Given the description of an element on the screen output the (x, y) to click on. 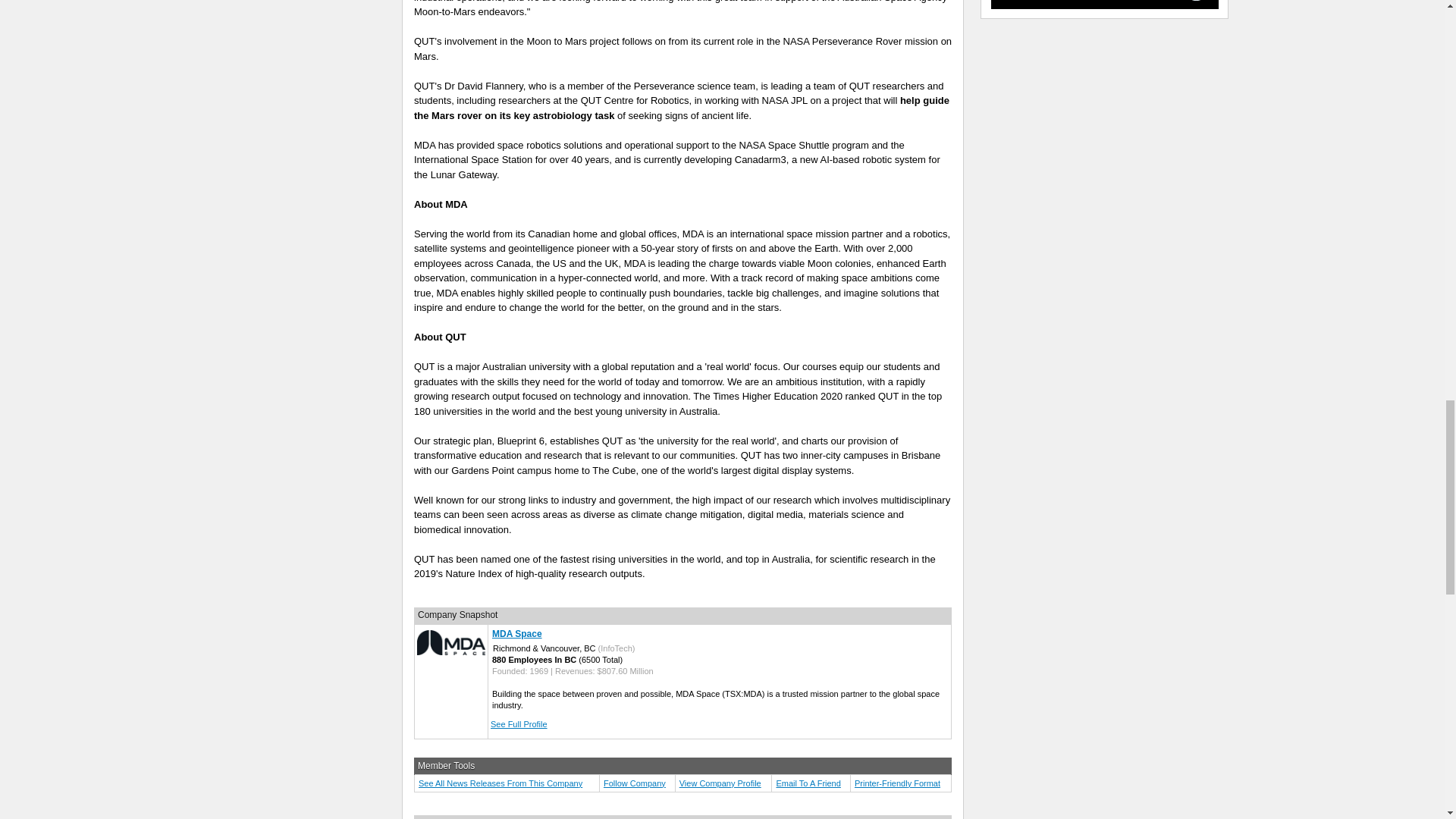
MDA Space Company Profile (450, 651)
MDA Space Company Profile (516, 633)
MDA Space Company Profile (720, 782)
